Given the description of an element on the screen output the (x, y) to click on. 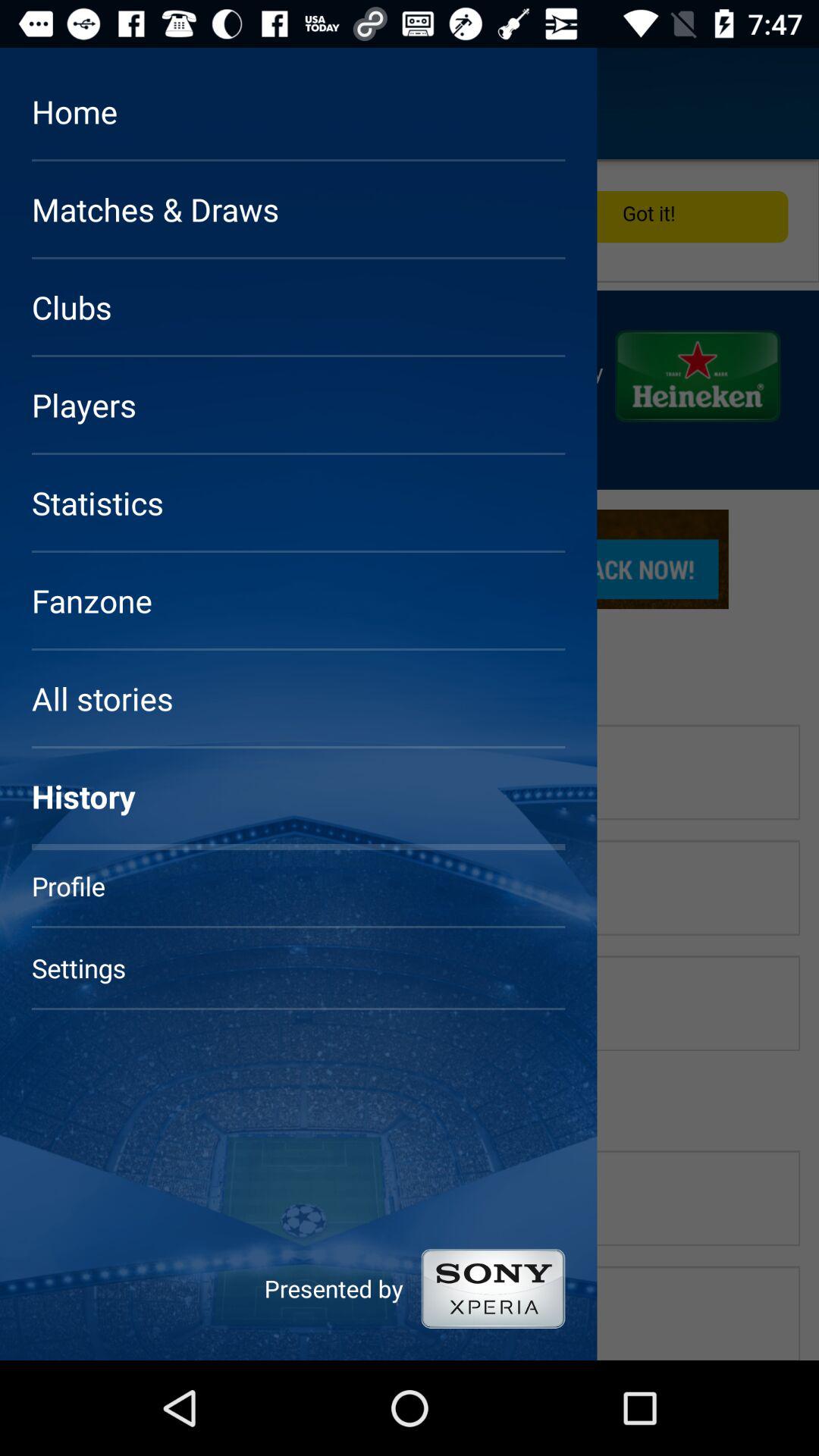
home (55, 103)
